Given the description of an element on the screen output the (x, y) to click on. 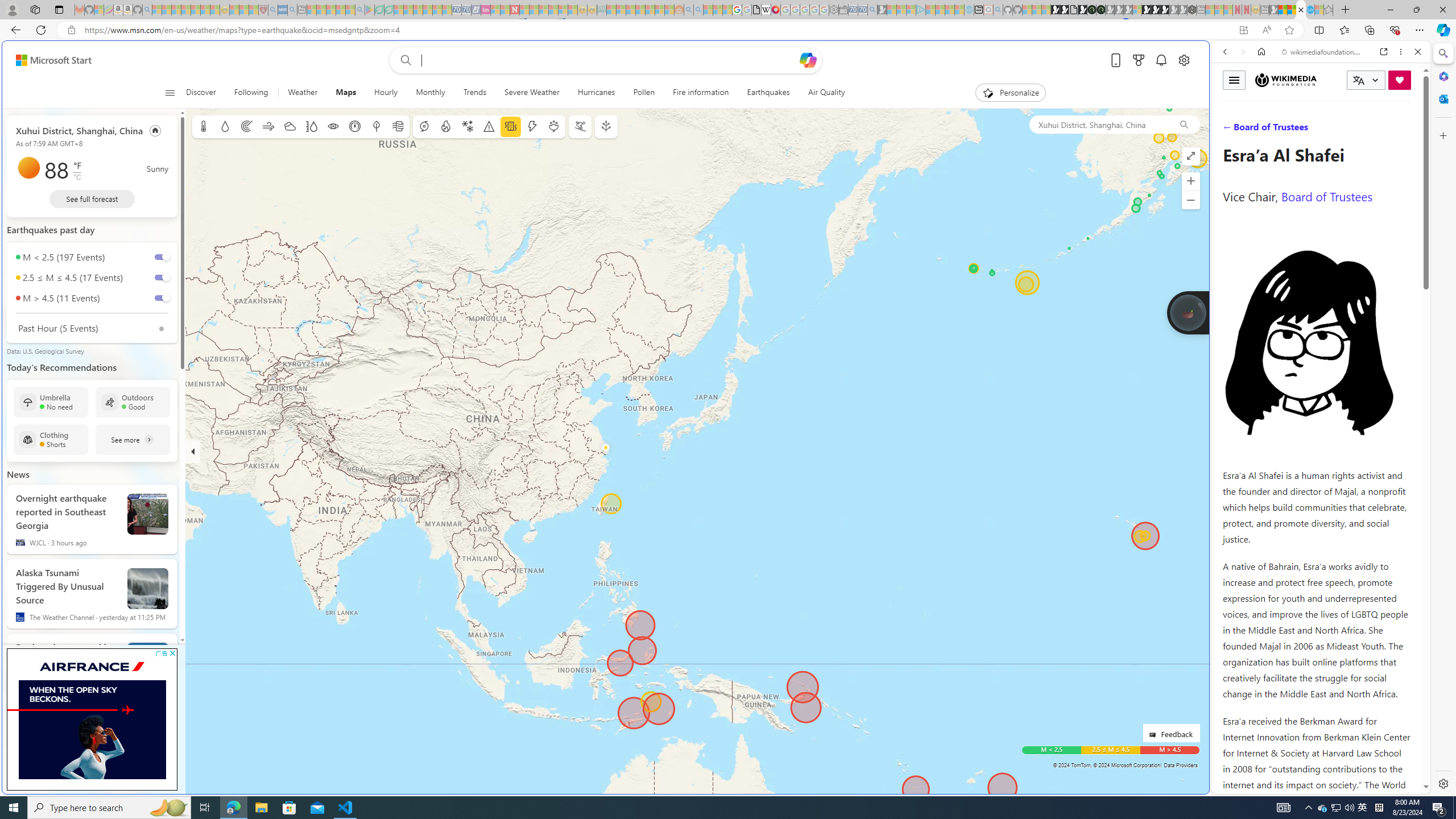
Web search (403, 60)
Target page - Wikipedia (766, 9)
New tab - Sleeping (1264, 9)
Microsoft-Report a Concern to Bing - Sleeping (98, 9)
Precipitation (225, 126)
Clouds (289, 126)
New Report Confirms 2023 Was Record Hot | Watch - Sleeping (195, 9)
Skip to footer (46, 59)
Actions for this site (1370, 583)
CURRENT LANGUAGE: (1366, 80)
